Given the description of an element on the screen output the (x, y) to click on. 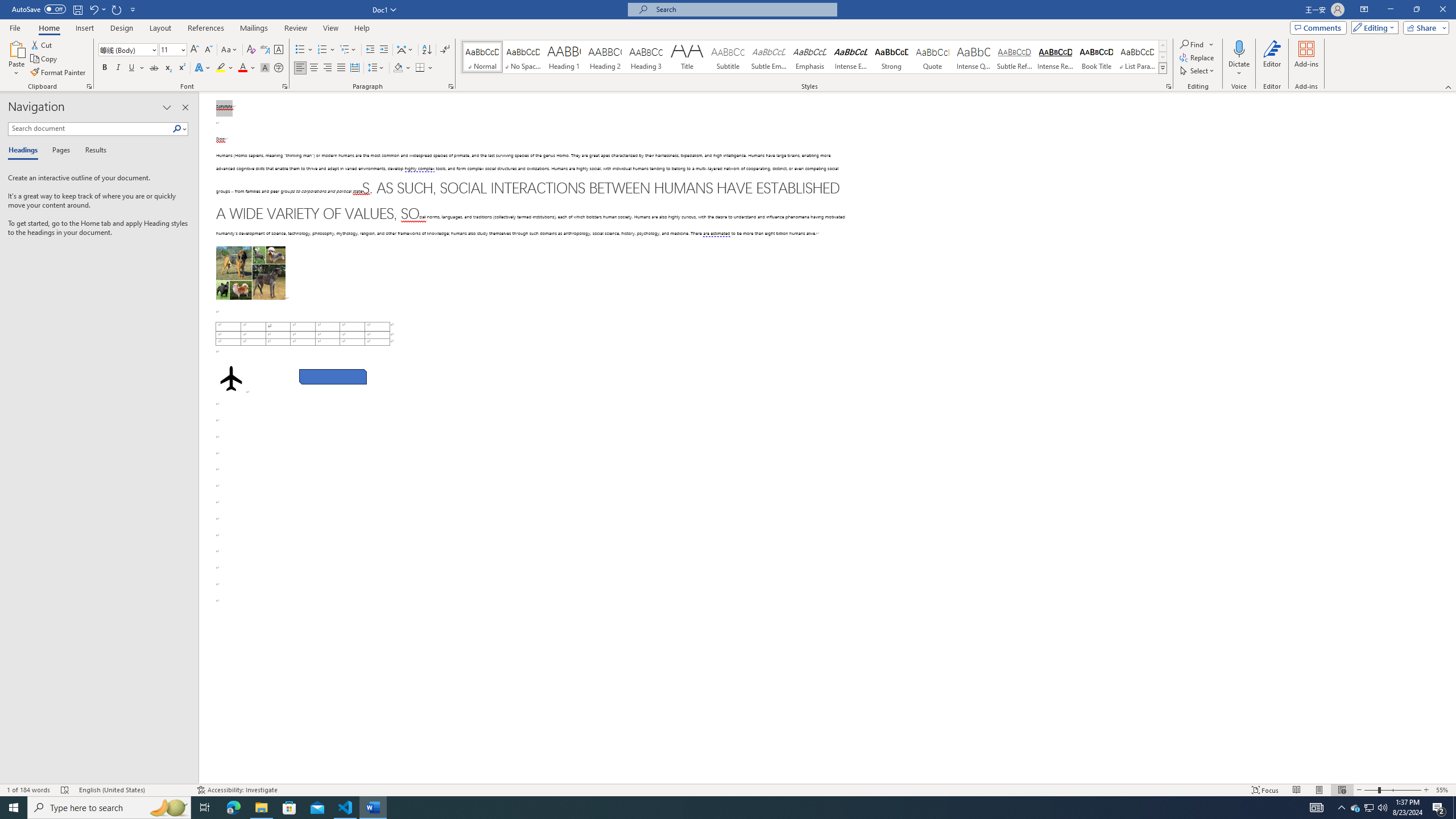
AutoSave (38, 9)
Editor (1272, 58)
Font Size (172, 49)
Heading 3 (646, 56)
Font Size (169, 49)
Search (177, 128)
Open (182, 49)
Home (48, 28)
File Tab (15, 27)
Text Highlight Color (224, 67)
Class: NetUIImage (1162, 68)
Bold (104, 67)
Bullets (300, 49)
Copy (45, 58)
